Given the description of an element on the screen output the (x, y) to click on. 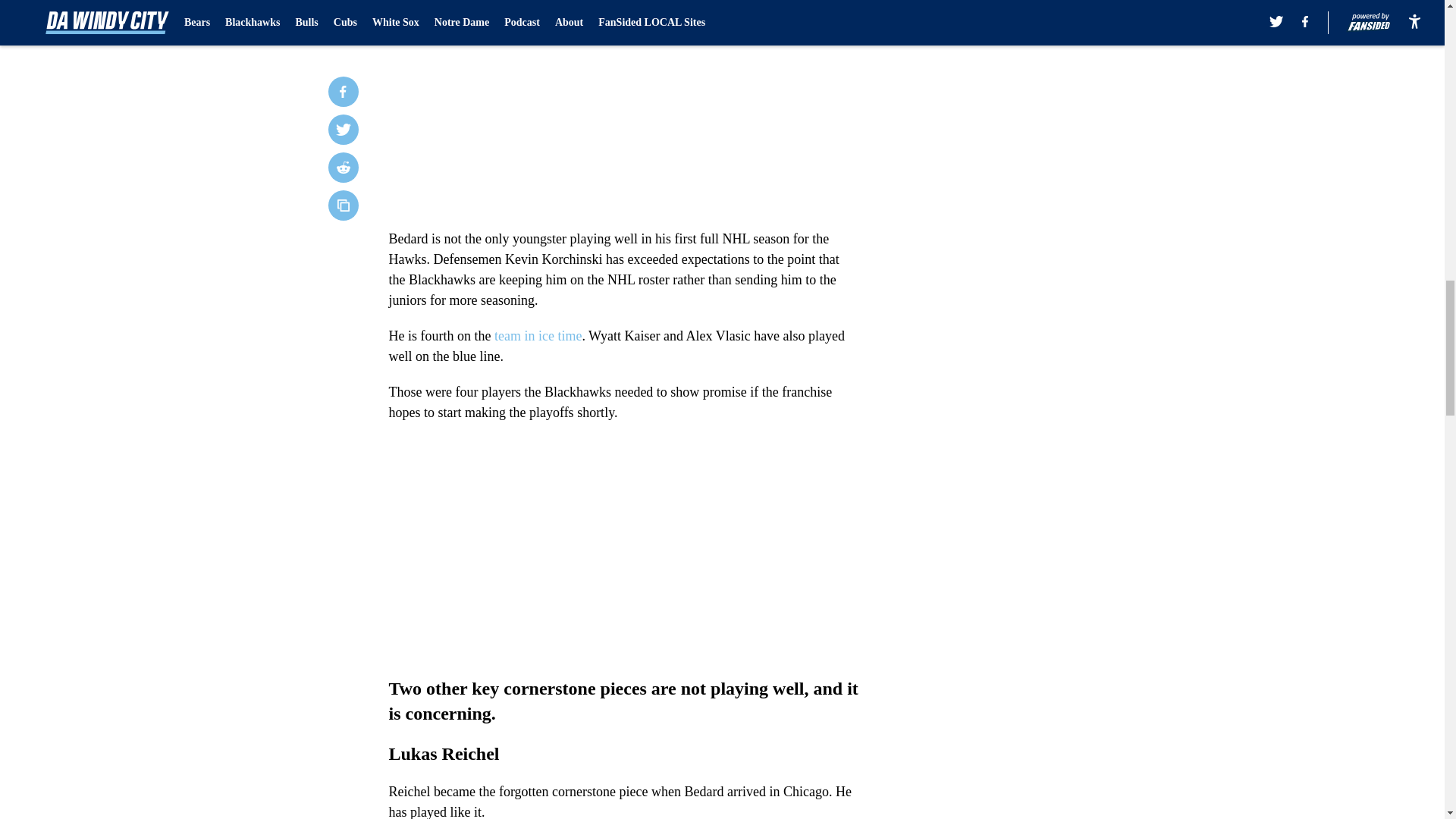
team in ice time (537, 335)
